Given the description of an element on the screen output the (x, y) to click on. 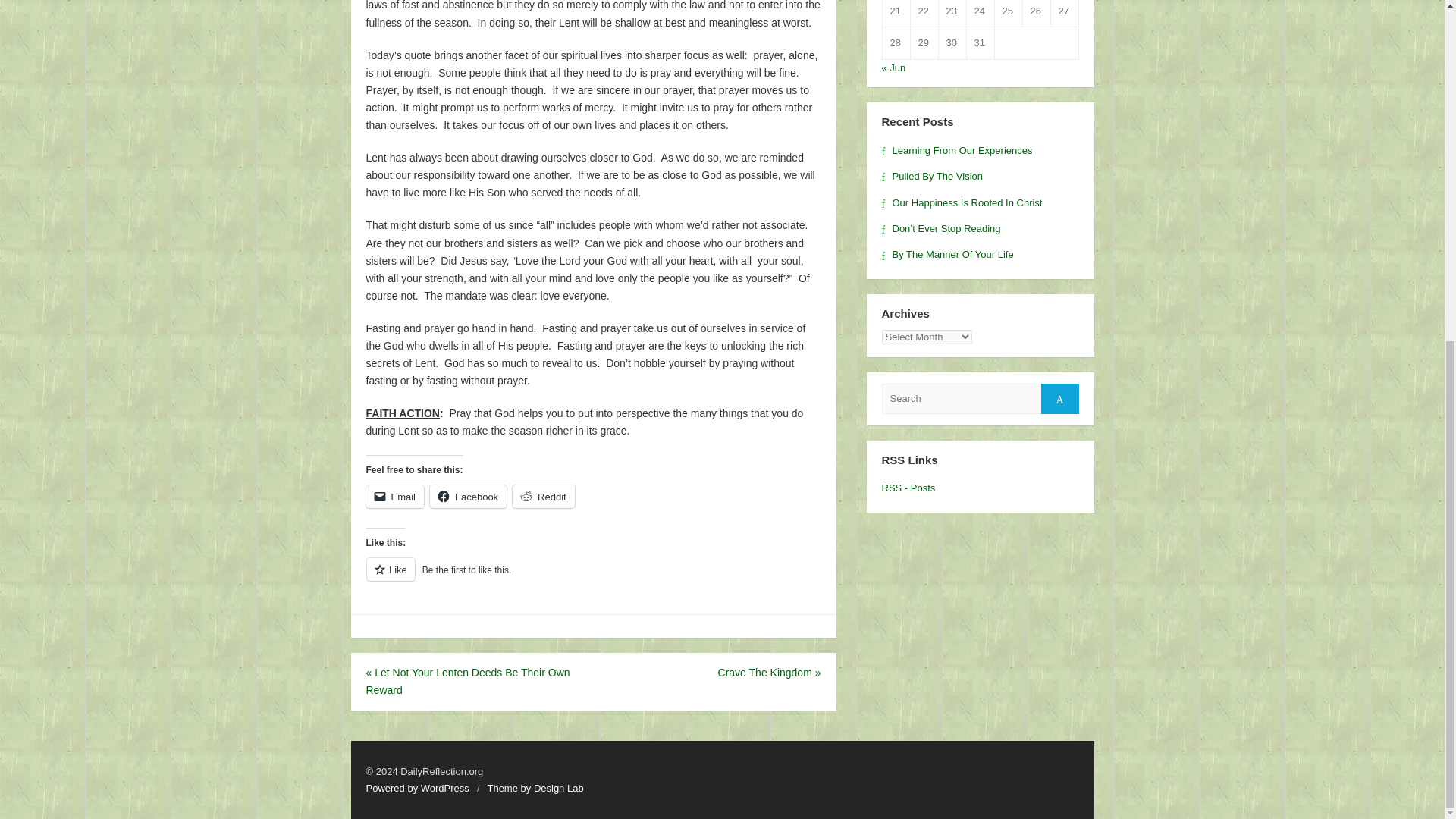
Our Happiness Is Rooted In Christ (961, 202)
Email (394, 496)
Pulled By The Vision (930, 175)
Subscribe to posts (907, 487)
Click to email a link to a friend (394, 496)
Like or Reblog (593, 577)
Click to share on Reddit (543, 496)
Click to share on Facebook (467, 496)
Reddit (543, 496)
Facebook (467, 496)
Learning From Our Experiences (956, 150)
